Given the description of an element on the screen output the (x, y) to click on. 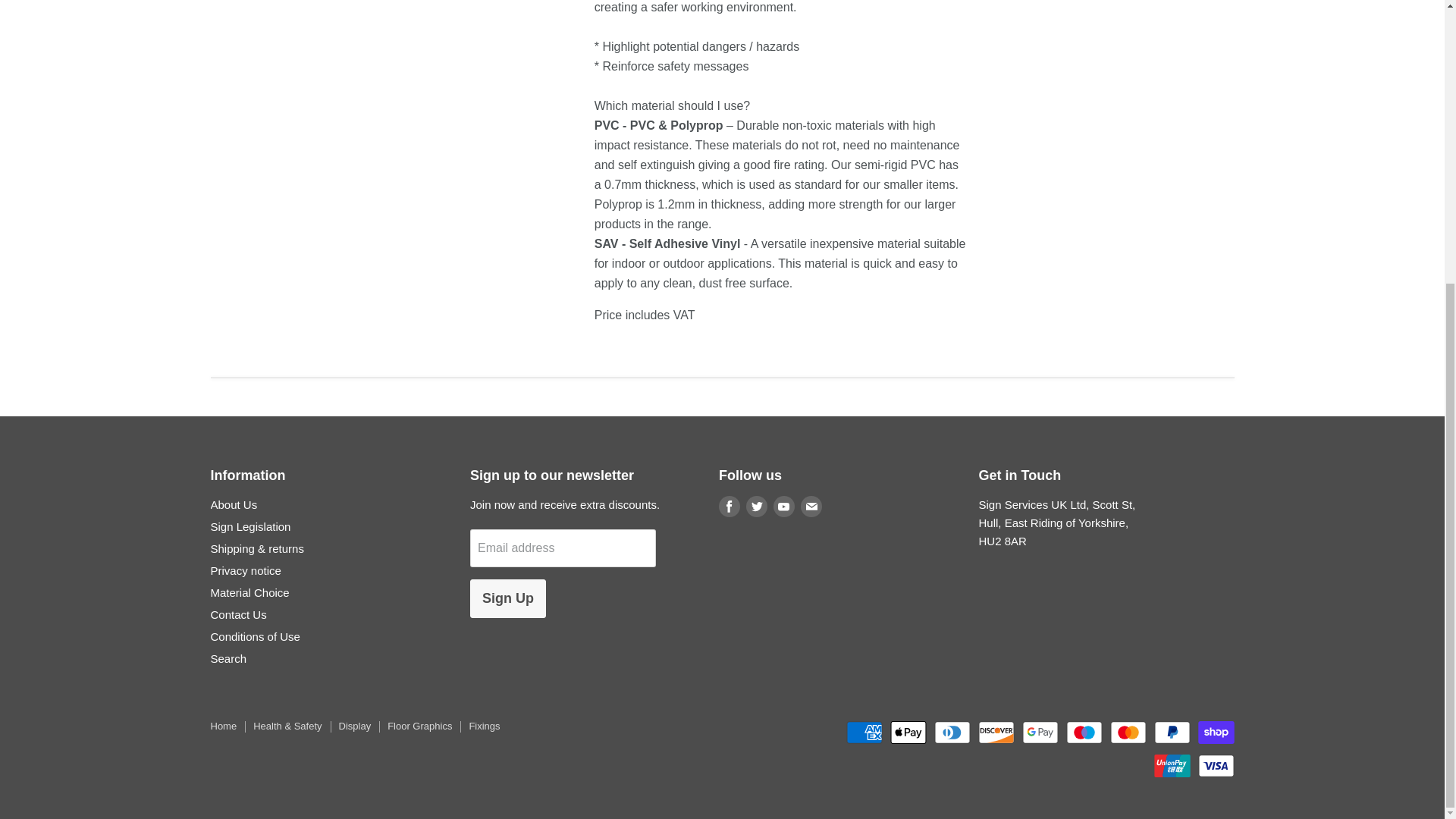
Twitter (756, 506)
American Express (863, 732)
Youtube (783, 506)
E-mail (811, 506)
Facebook (729, 506)
Apple Pay (907, 732)
